Given the description of an element on the screen output the (x, y) to click on. 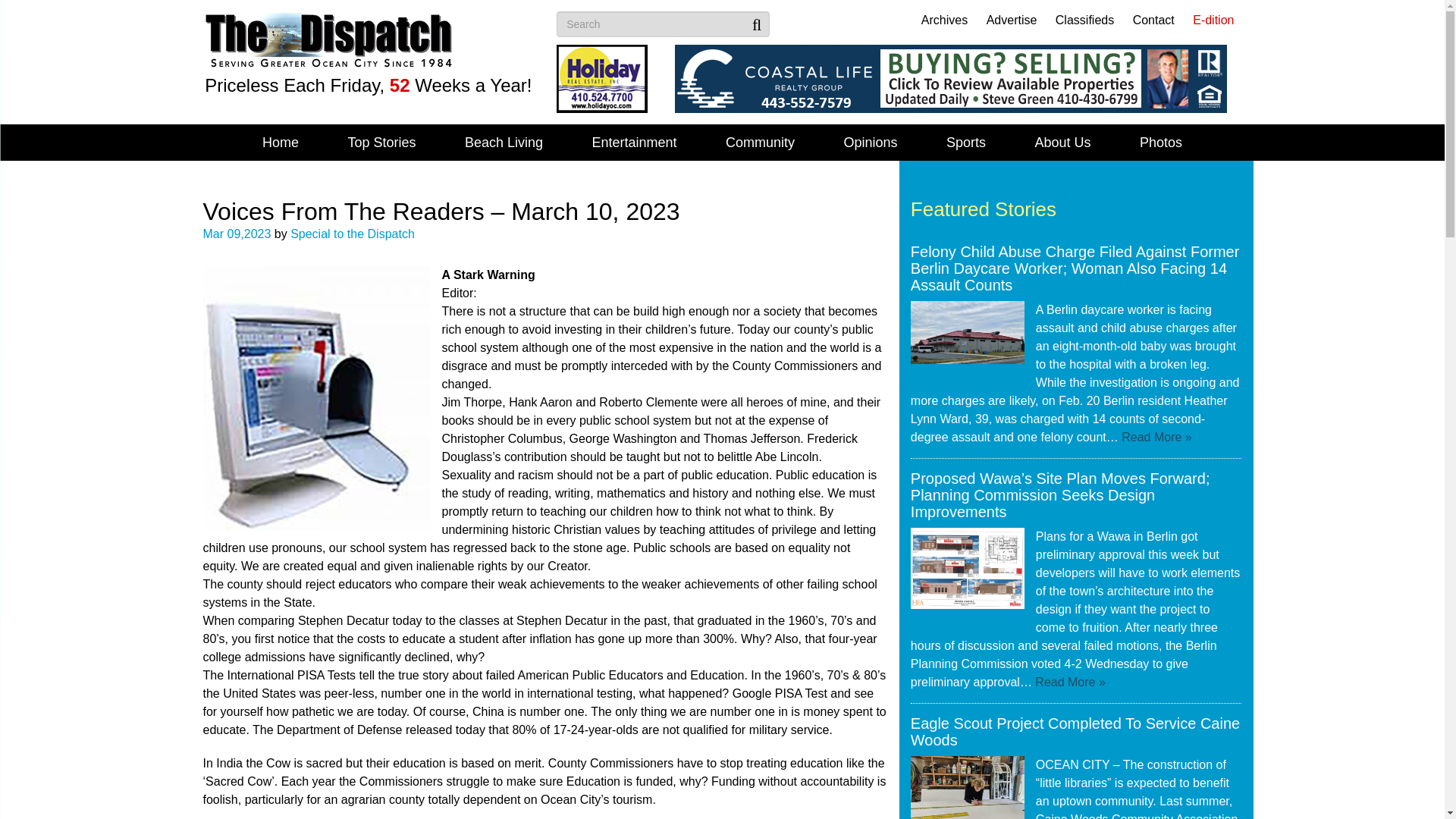
Archives (944, 20)
